Given the description of an element on the screen output the (x, y) to click on. 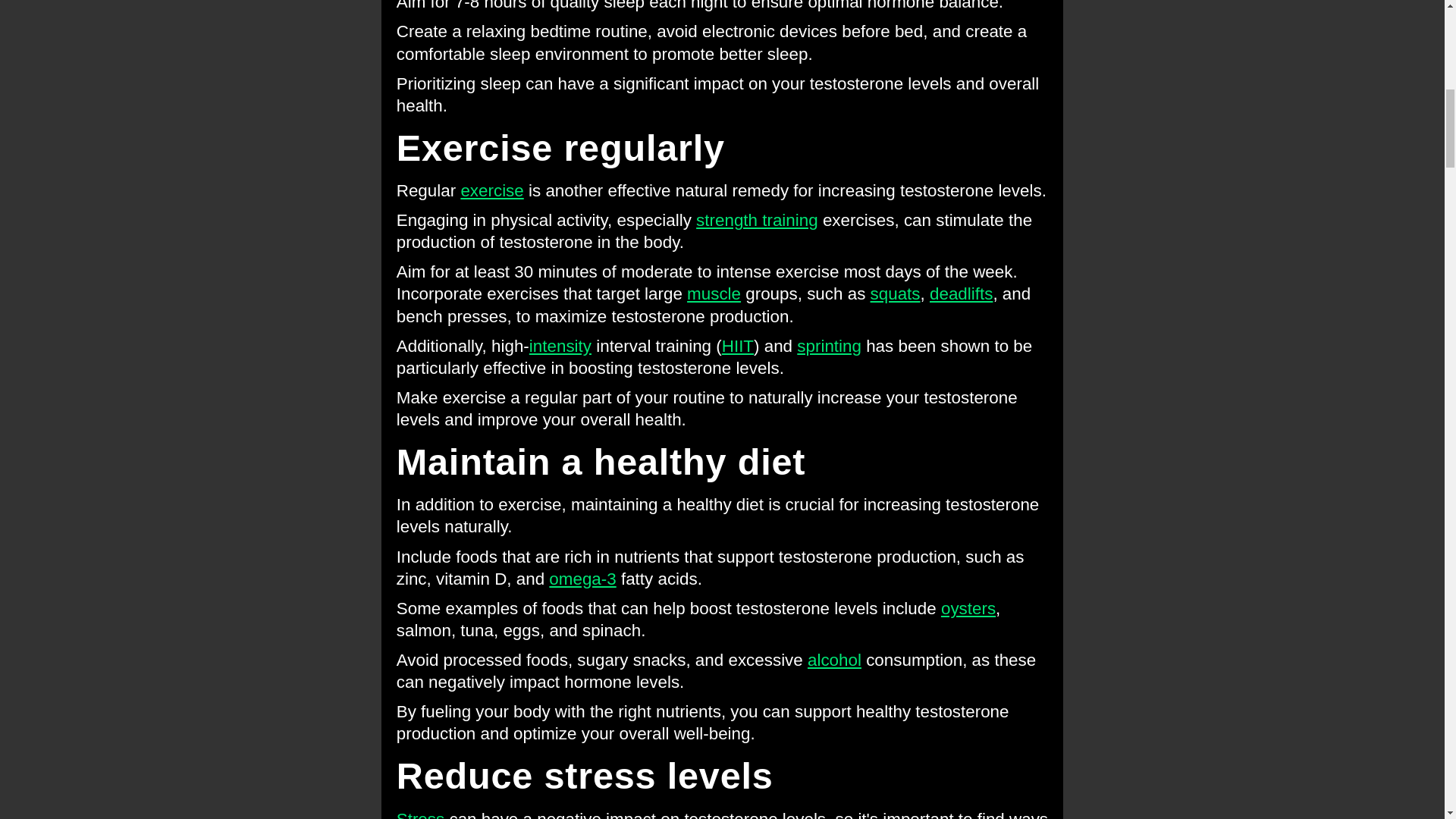
exercise (491, 189)
oysters (967, 608)
Stress (420, 814)
sprinting (828, 345)
HIIT (738, 345)
muscle (714, 293)
strength training (756, 220)
squats (895, 293)
alcohol (834, 659)
omega-3 (581, 578)
deadlifts (961, 293)
intensity (560, 345)
